Given the description of an element on the screen output the (x, y) to click on. 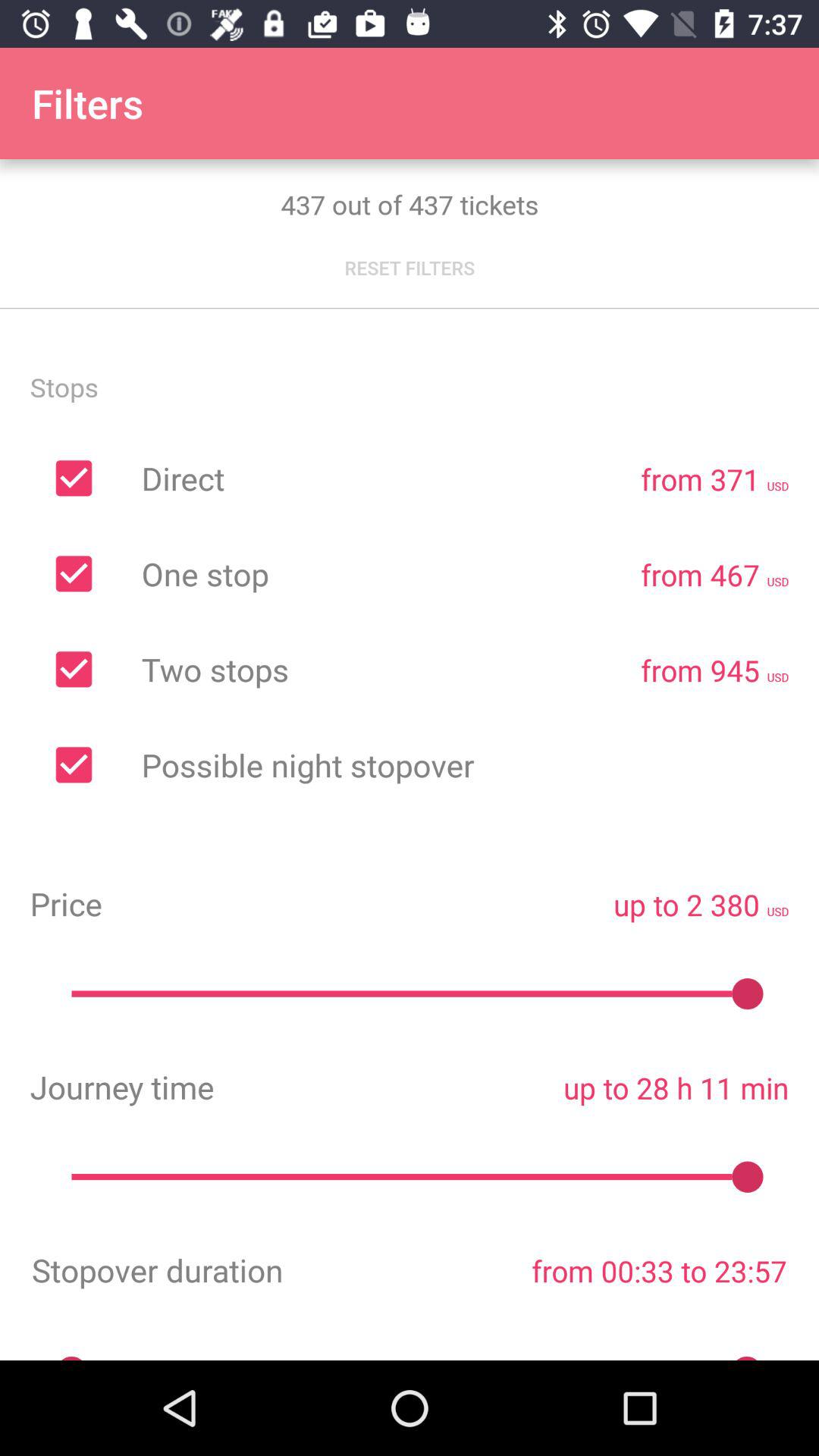
turn off reset filters (409, 268)
